Given the description of an element on the screen output the (x, y) to click on. 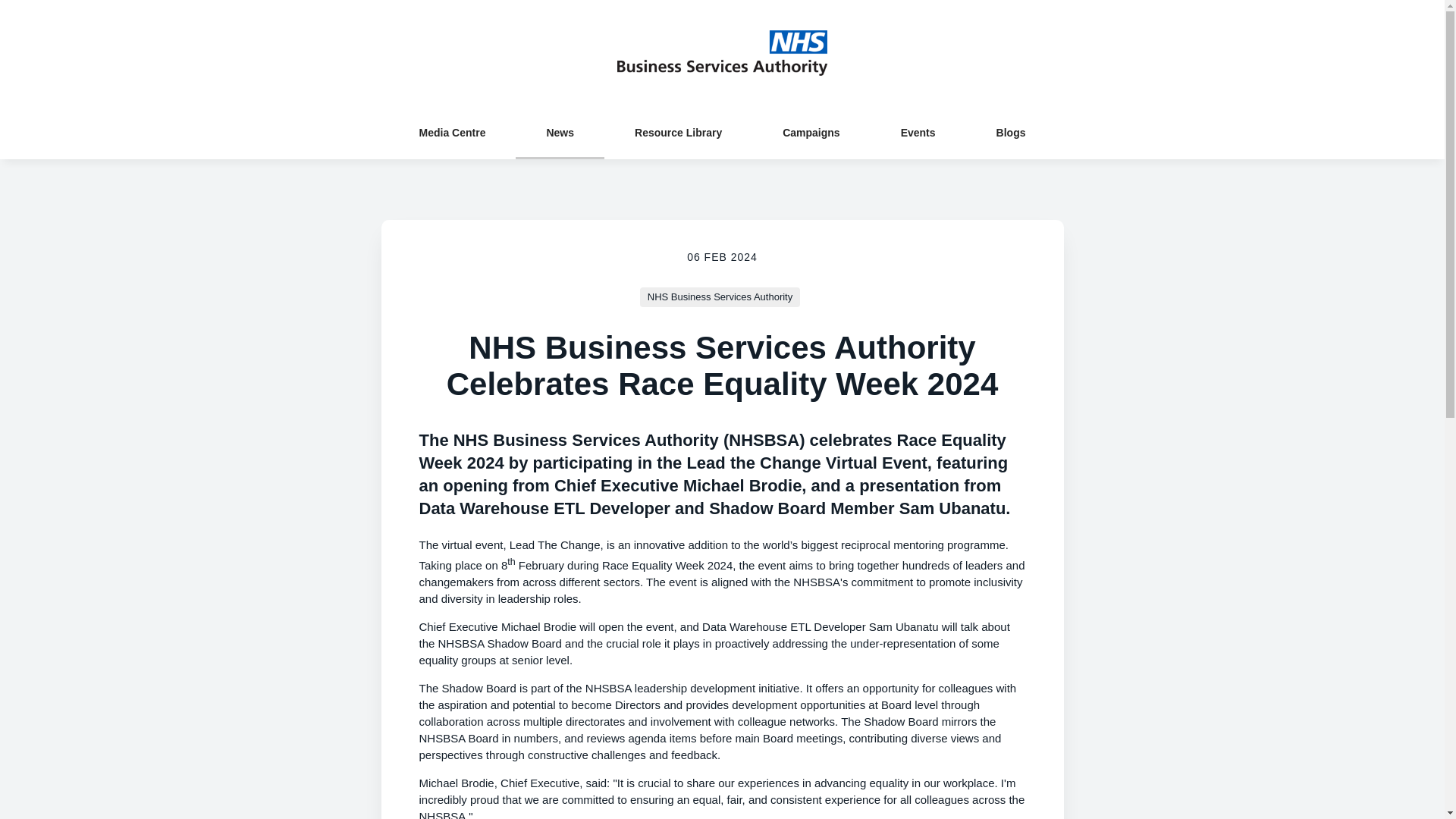
Resource Library (678, 132)
Campaigns (810, 132)
Blogs (1011, 132)
Events (918, 132)
Media Centre (452, 132)
NHS Business Services Authority (719, 297)
News (559, 132)
